Given the description of an element on the screen output the (x, y) to click on. 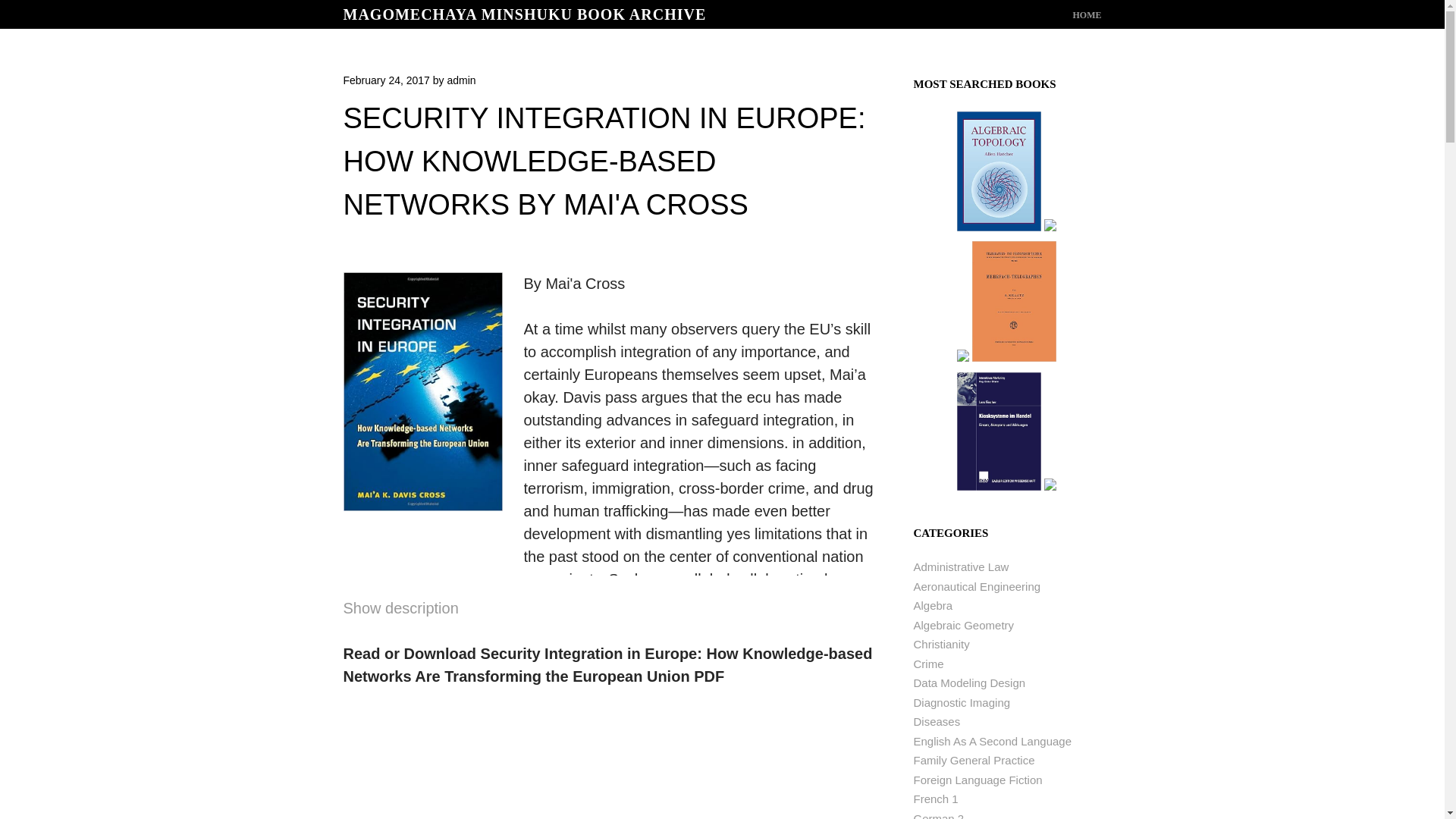
Diseases (935, 721)
MAGOMECHAYA MINSHUKU Book Archive (524, 13)
10:42 pm (385, 80)
Algebraic topology by Edwin H. Spanier (998, 228)
Administrative Law (960, 566)
SKIP TO CONTENT (1095, 14)
February 24, 2017 (385, 80)
Show description (400, 607)
HOME (1085, 14)
admin (461, 80)
